Given the description of an element on the screen output the (x, y) to click on. 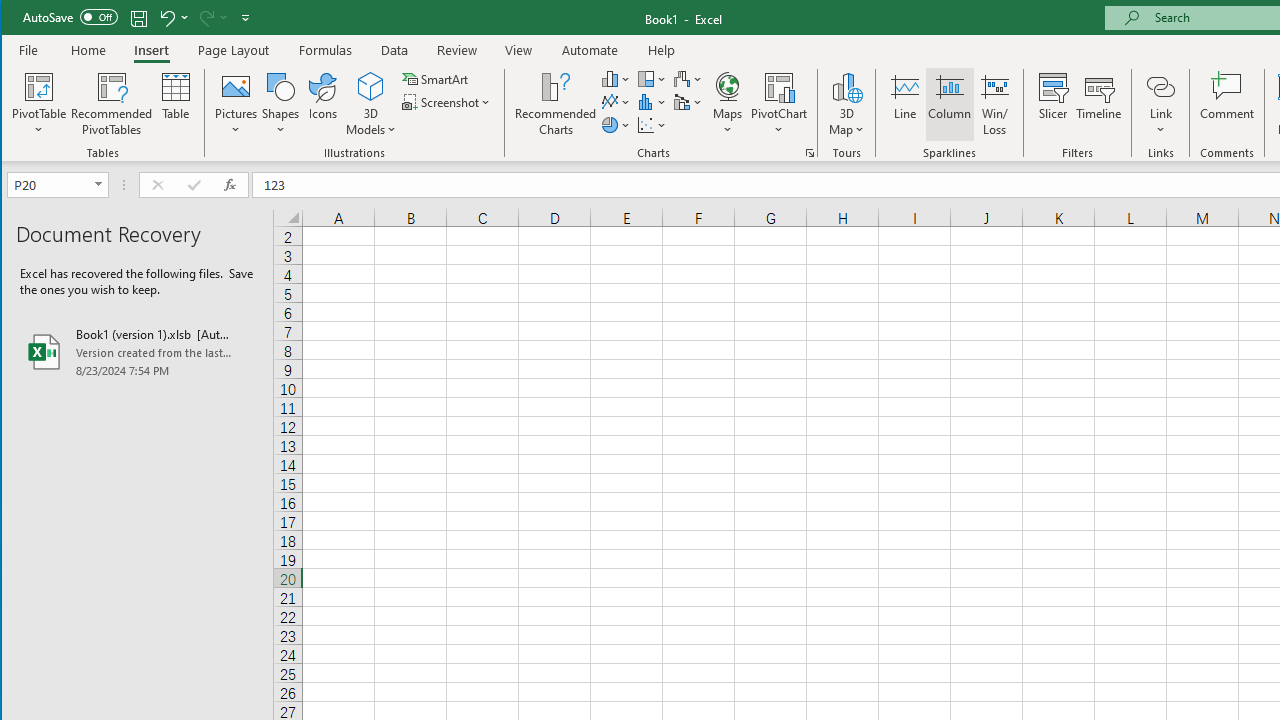
3D Models (371, 104)
Timeline (1098, 104)
Insert Pie or Doughnut Chart (616, 124)
PivotChart (779, 104)
Table (175, 104)
Insert Combo Chart (688, 101)
Icons (323, 104)
Win/Loss (995, 104)
Line (904, 104)
Recommended PivotTables (111, 104)
